Given the description of an element on the screen output the (x, y) to click on. 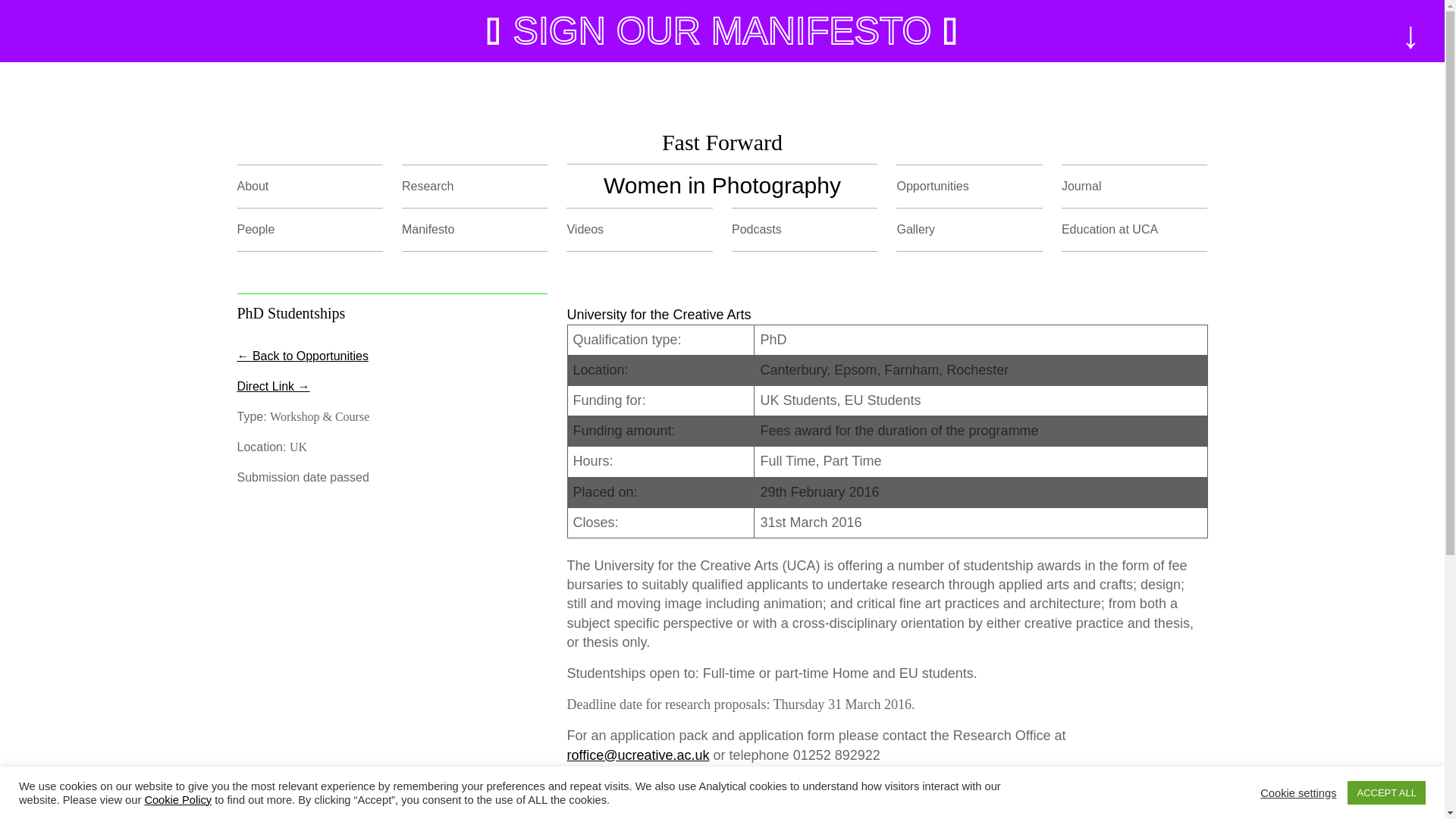
Videos (585, 228)
Research (426, 185)
Link to Opportunity Website (271, 386)
People (255, 228)
ACCEPT ALL (1386, 792)
Manifesto (427, 228)
Journal (1080, 185)
Podcasts (756, 228)
About (251, 185)
Opportunities (932, 185)
